Given the description of an element on the screen output the (x, y) to click on. 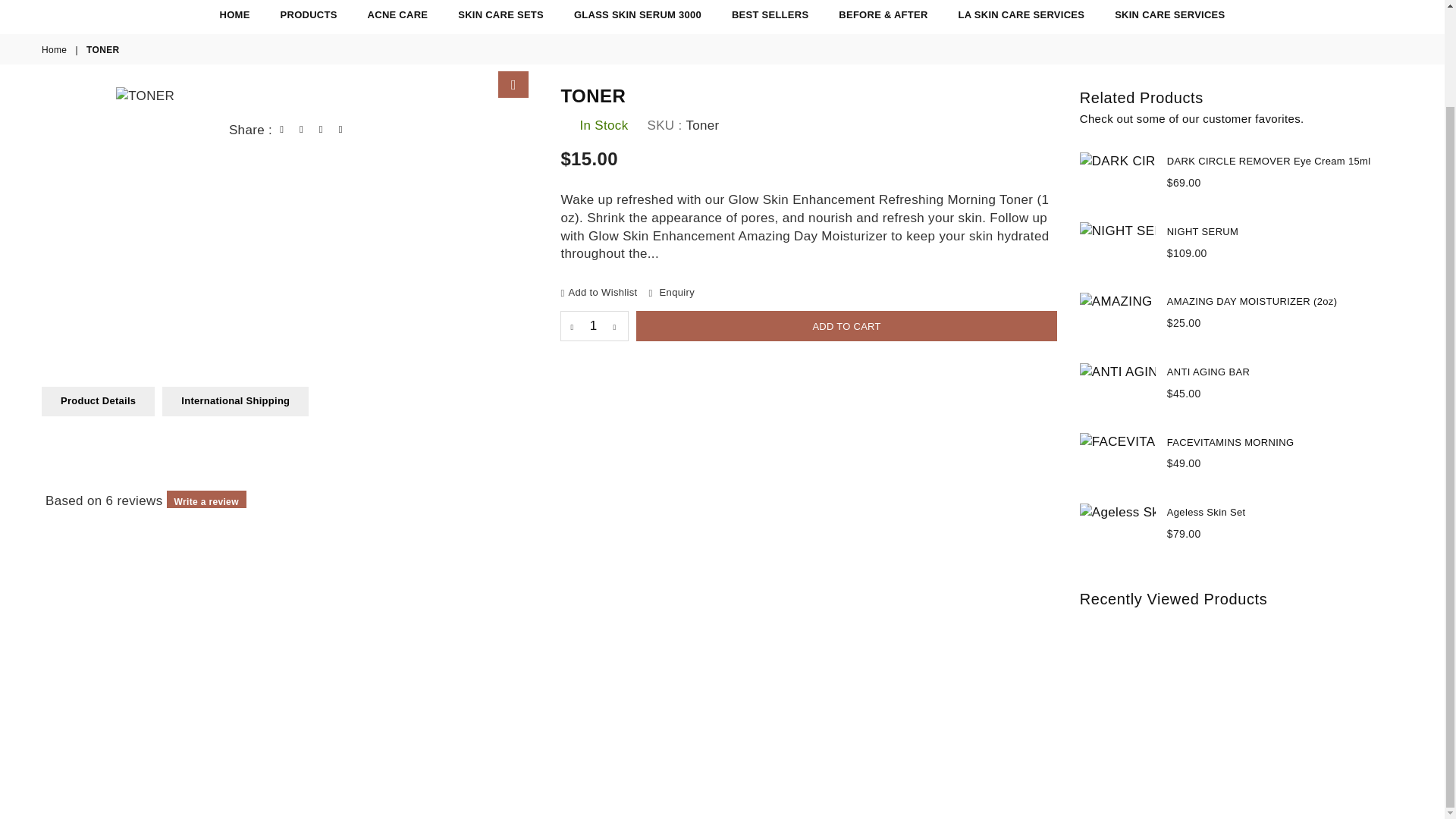
HOME (234, 15)
PRODUCTS (309, 15)
Quantity (594, 326)
Back to the home page (55, 50)
ACNE CARE (398, 15)
